Given the description of an element on the screen output the (x, y) to click on. 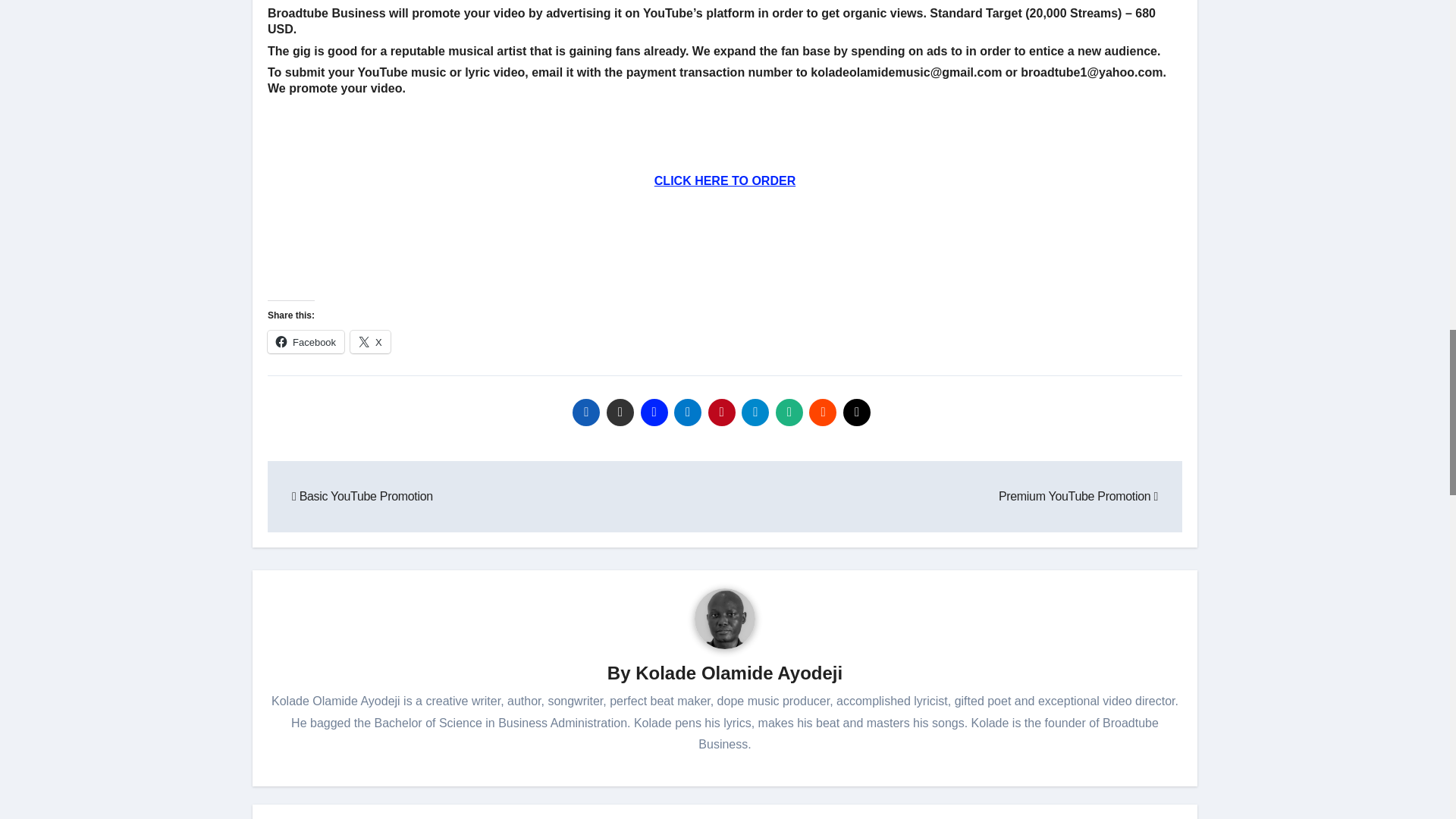
Facebook (305, 341)
CLICK HERE TO ORDER (723, 180)
X (370, 341)
